Given the description of an element on the screen output the (x, y) to click on. 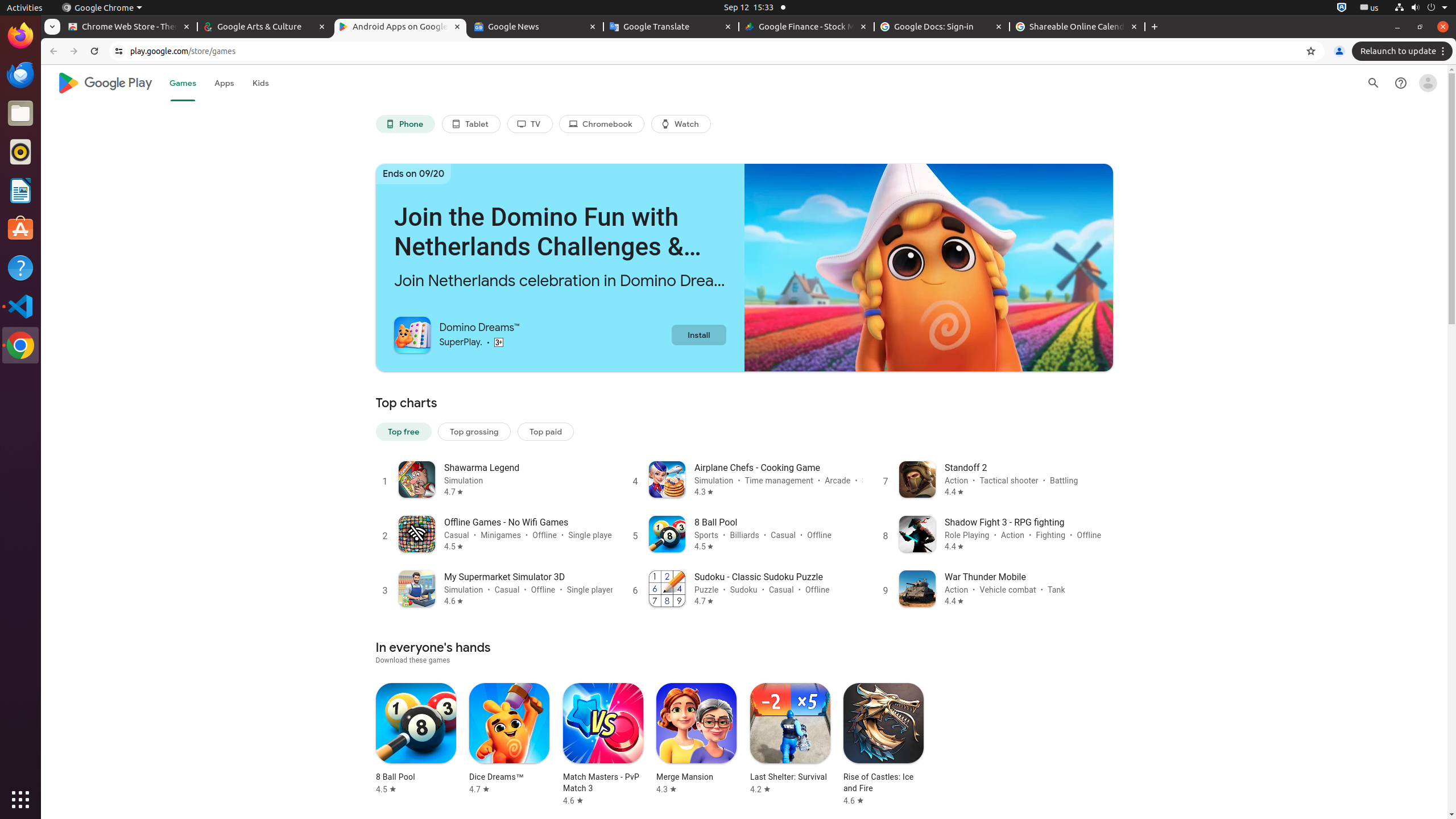
Dice Dreams™️ Rated 4.7 stars out of five stars Element type: link (509, 738)
Rank 3 My Supermarket Simulator 3D Simulation • Casual • Offline • Single player Rated 4.6 stars out of five stars Element type: link (493, 587)
Rank 5 8 Ball Pool Sports • Billiards • Casual • Offline Rated 4.5 stars out of five stars Element type: link (743, 533)
Firefox Web Browser Element type: push-button (20, 35)
Help Center Element type: push-button (1400, 82)
